Given the description of an element on the screen output the (x, y) to click on. 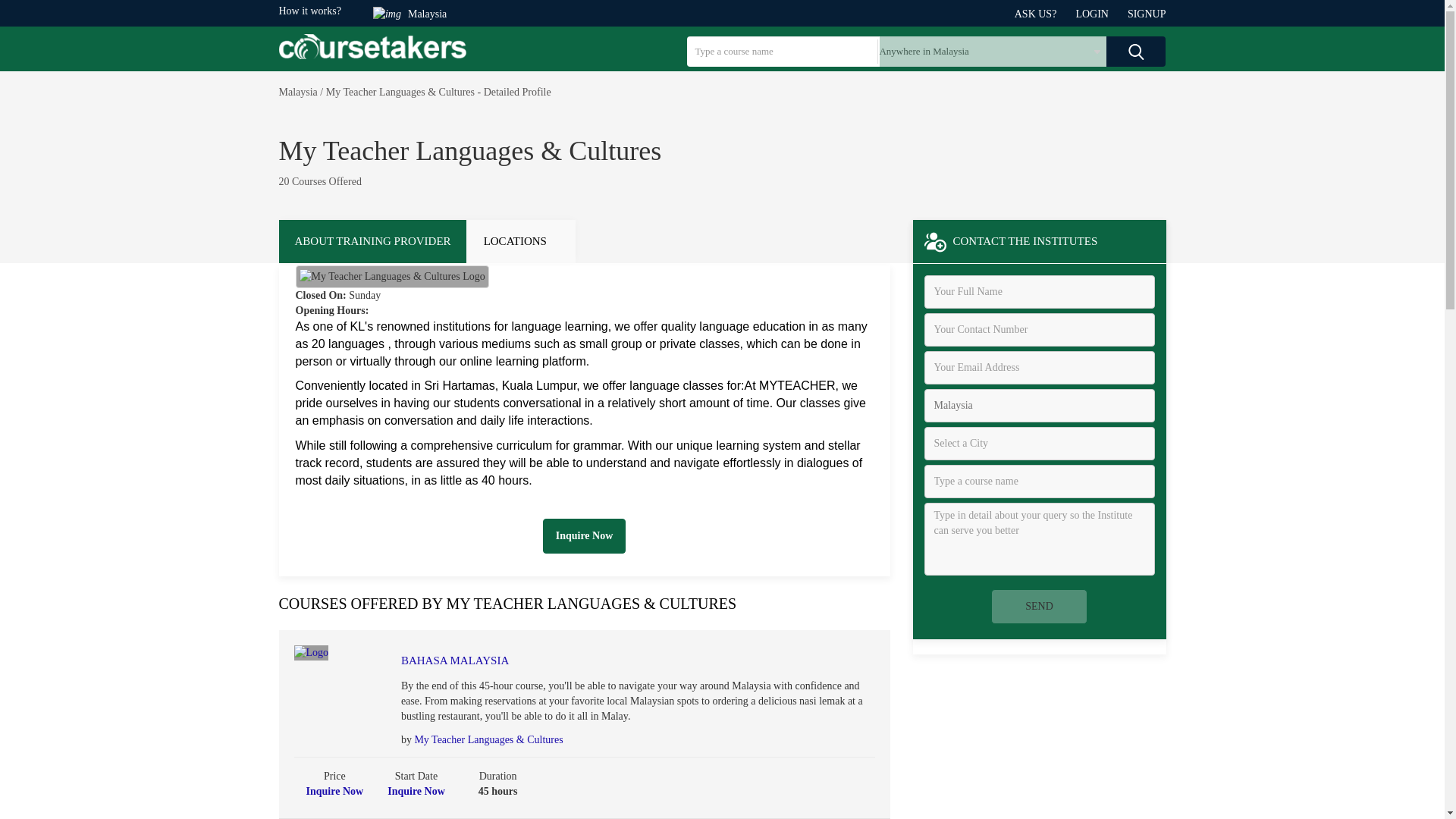
Inquire Now (584, 535)
SIGNUP (1146, 14)
Bahasa Malaysia (602, 660)
LOGIN (1100, 14)
Malaysia (298, 91)
Send (1039, 606)
Send (1039, 606)
BAHASA MALAYSIA (602, 660)
How it works? (309, 10)
LOCATIONS (521, 241)
